Given the description of an element on the screen output the (x, y) to click on. 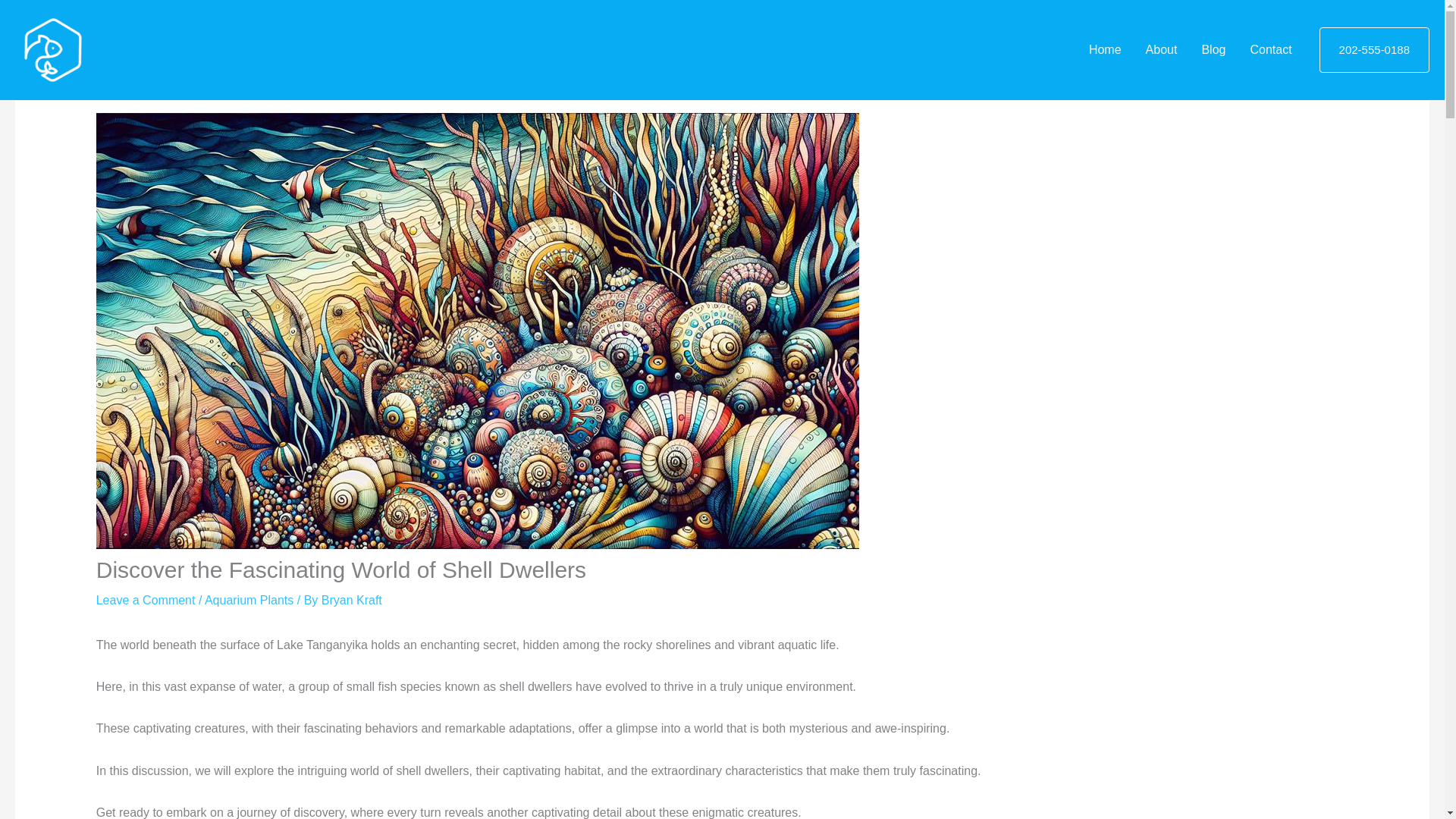
Leave a Comment (145, 599)
Aquarium Plants (249, 599)
View all posts by Bryan Kraft (351, 599)
About (1161, 49)
Home (1105, 49)
202-555-0188 (1374, 49)
Contact (1270, 49)
Bryan Kraft (351, 599)
Blog (1213, 49)
